Given the description of an element on the screen output the (x, y) to click on. 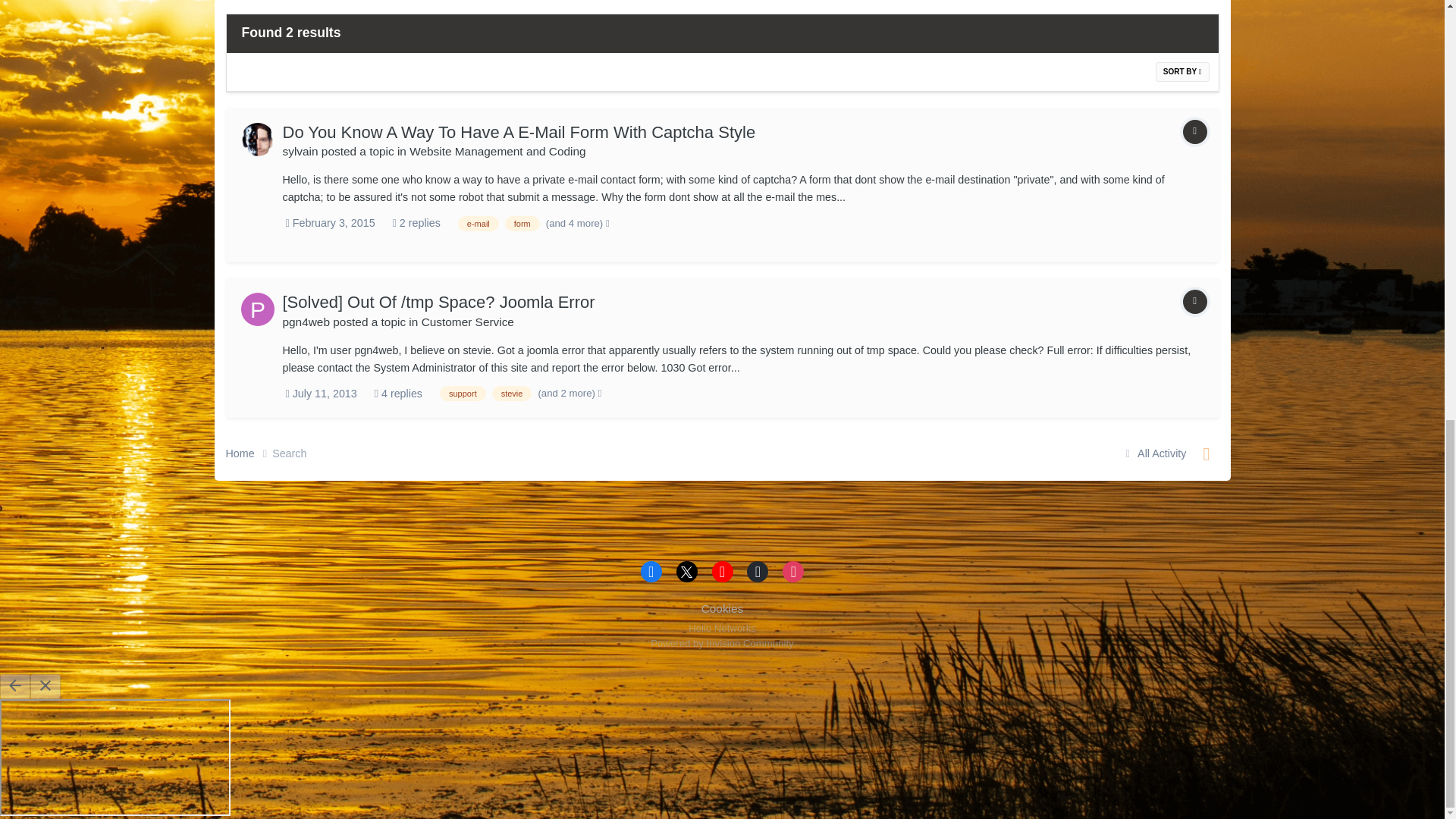
Go to sylvain's profile (258, 139)
Go to sylvain's profile (299, 151)
Topic (1194, 131)
Find other content tagged with 'e-mail' (478, 223)
Find other content tagged with 'form' (522, 223)
